Given the description of an element on the screen output the (x, y) to click on. 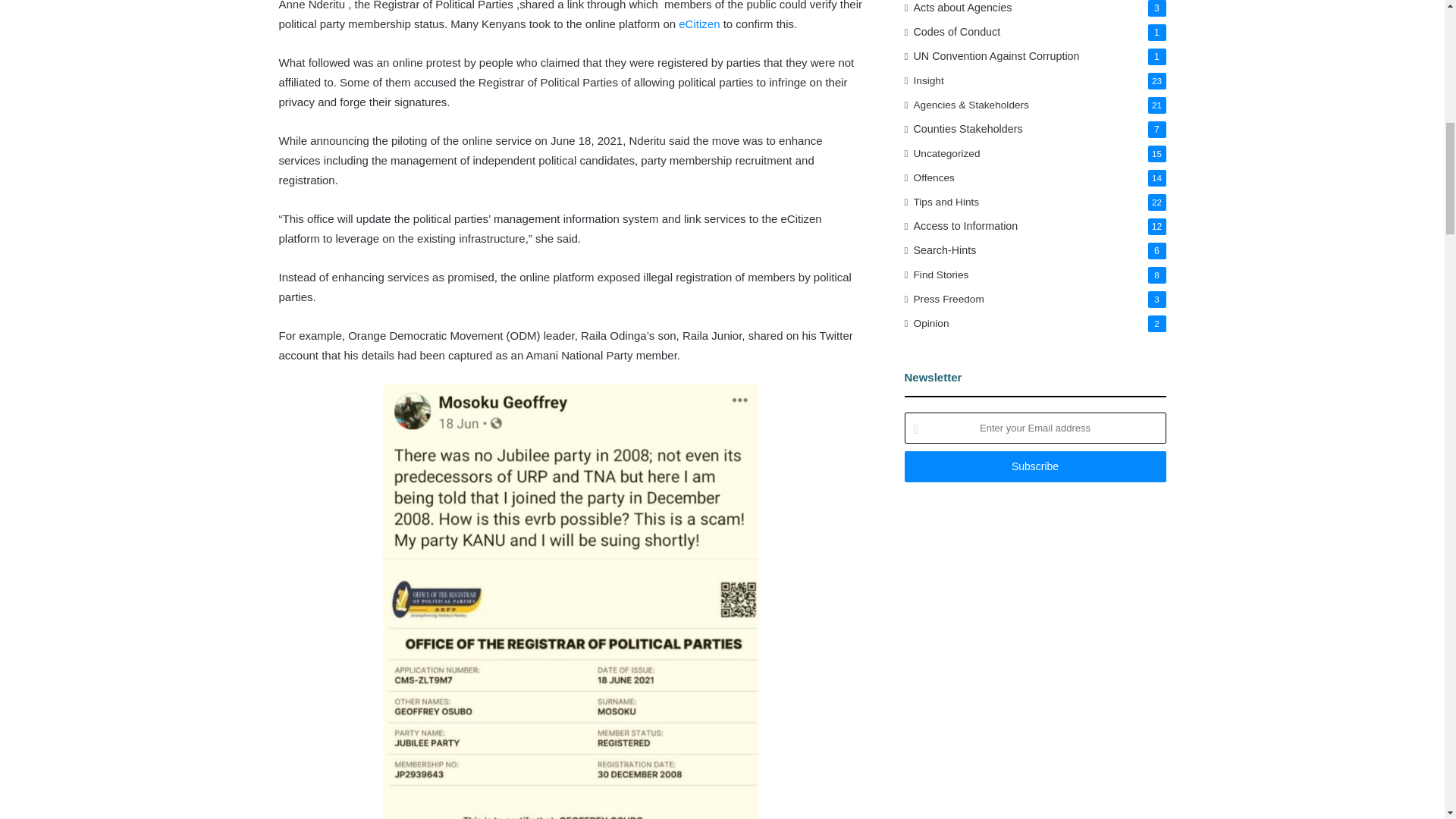
Subscribe (1035, 466)
